Given the description of an element on the screen output the (x, y) to click on. 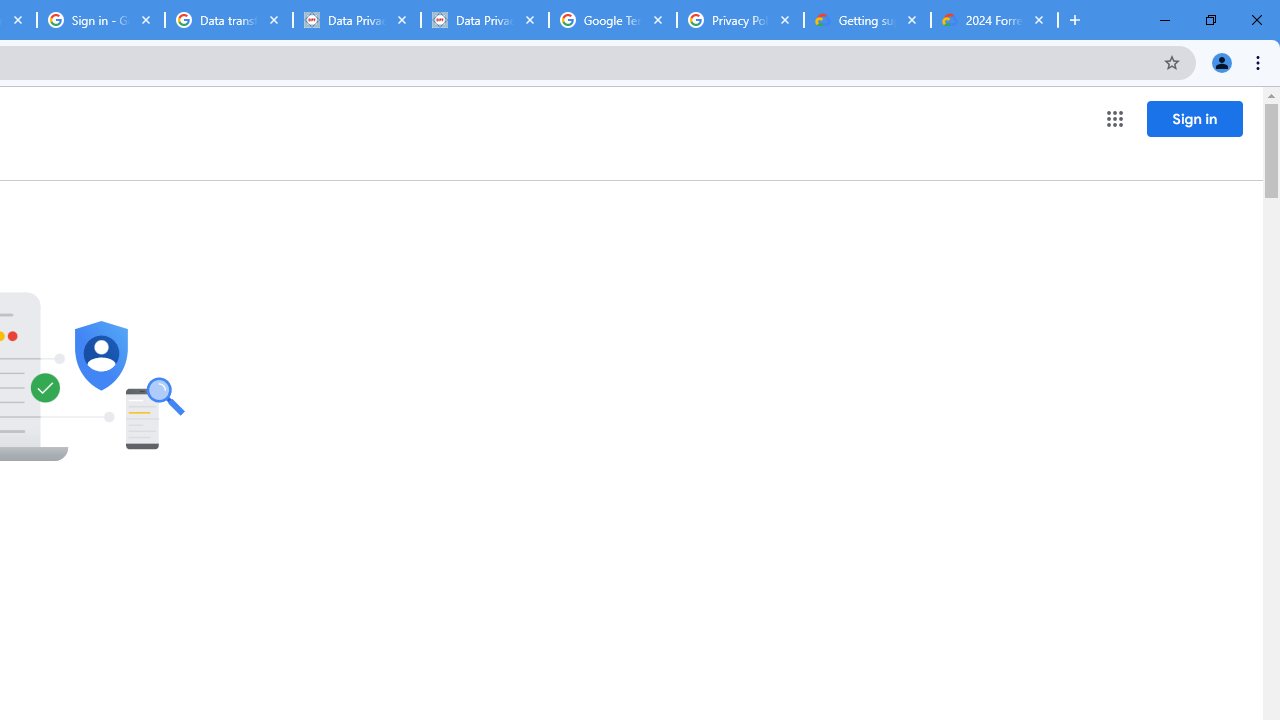
Data Privacy Framework (485, 20)
Sign in - Google Accounts (101, 20)
Data Privacy Framework (357, 20)
